Given the description of an element on the screen output the (x, y) to click on. 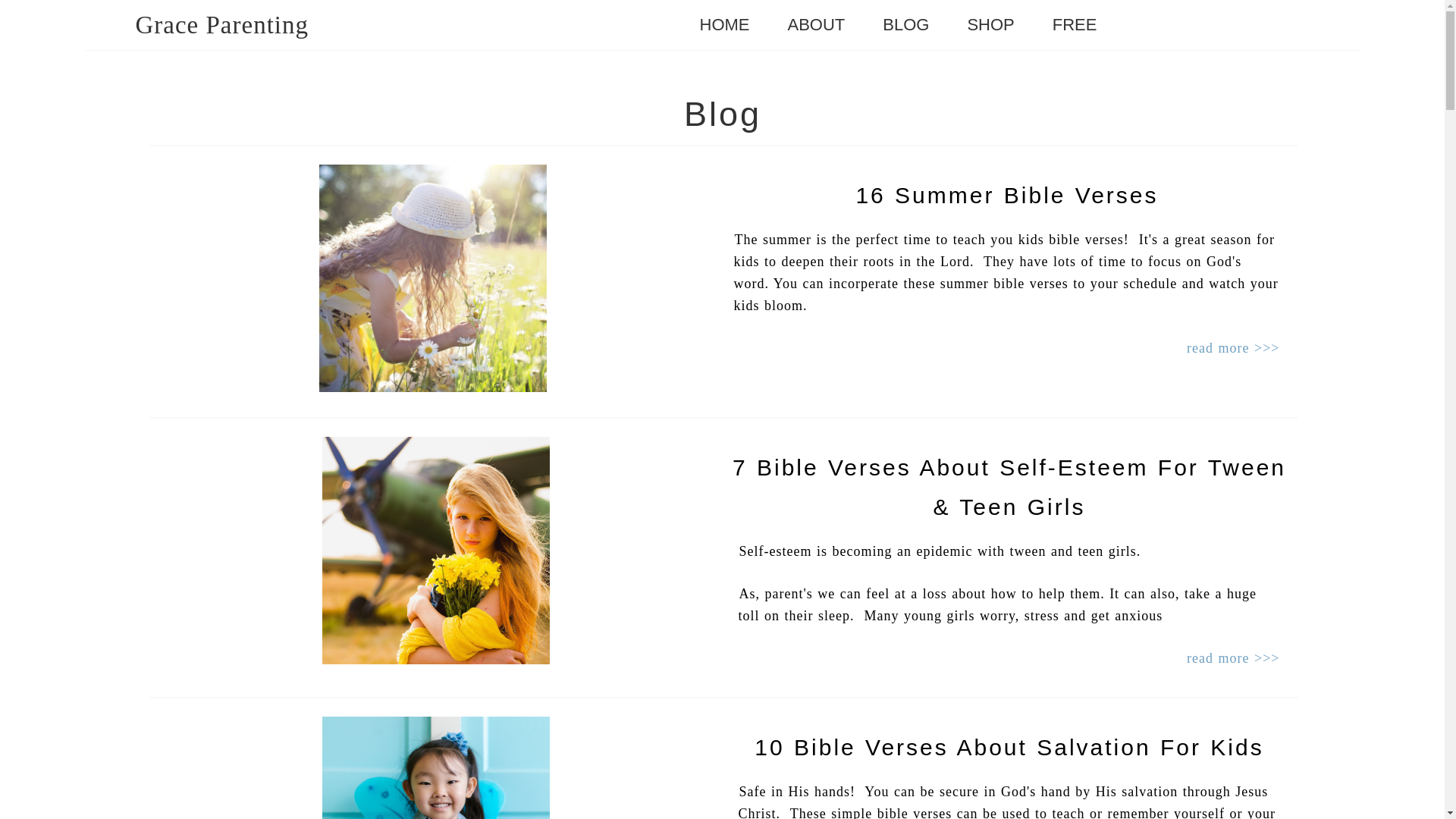
HOME (724, 24)
10 Bible Verses About Salvation For Kids (1008, 747)
16 Summer Bible Verses (1006, 195)
Go to Summer Bible Verses- 16 Scriptures (432, 387)
ABOUT (816, 24)
Grace Parenting (221, 23)
FREE (1074, 24)
Go to 7 Bible Verses About Self-Esteem For Teenage Girls (434, 659)
